Given the description of an element on the screen output the (x, y) to click on. 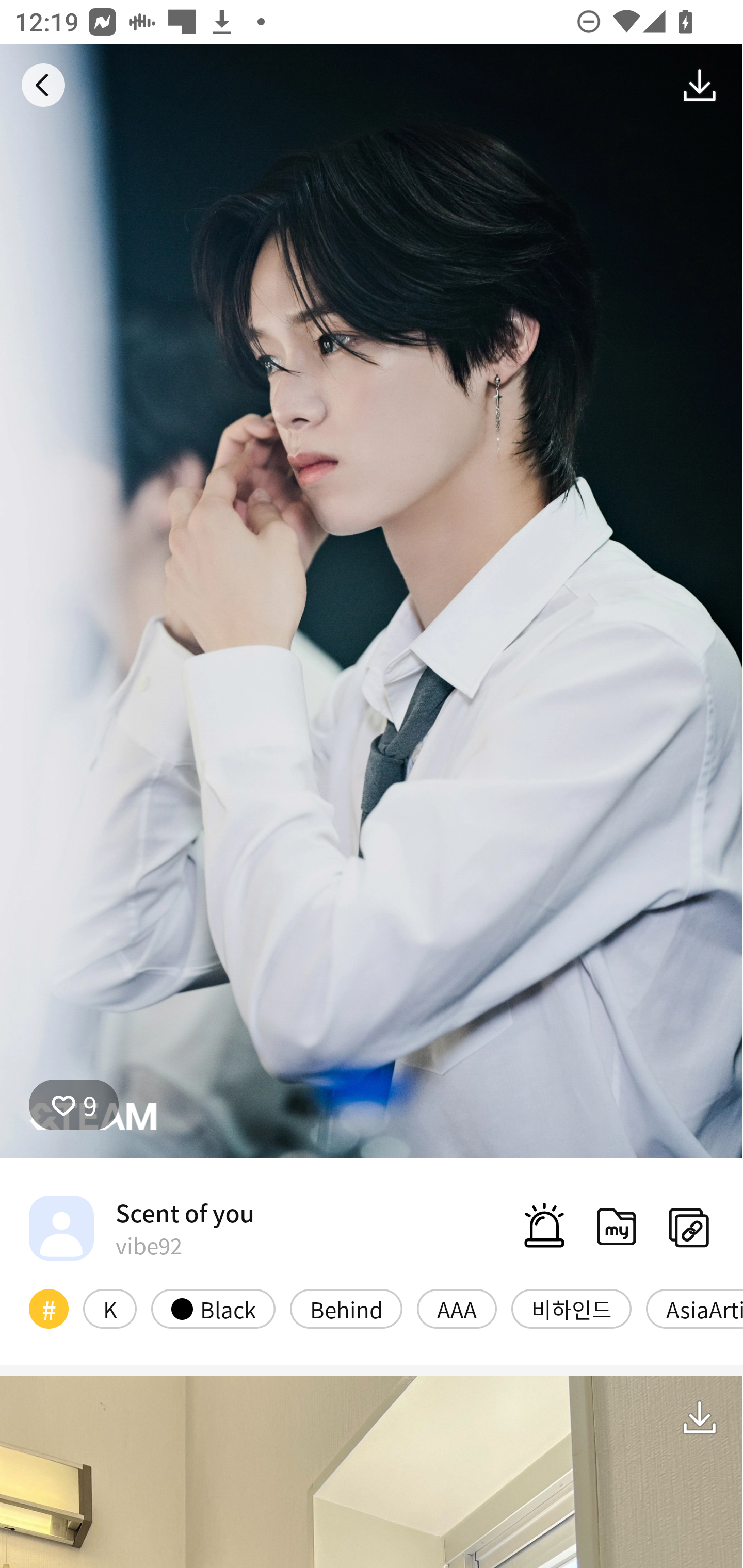
9 (73, 1104)
Scent of you vibe92 (141, 1227)
K (109, 1308)
Black (212, 1308)
Behind (345, 1308)
AAA (456, 1308)
비하인드 (571, 1308)
AsiaArtistAwards (694, 1308)
